Given the description of an element on the screen output the (x, y) to click on. 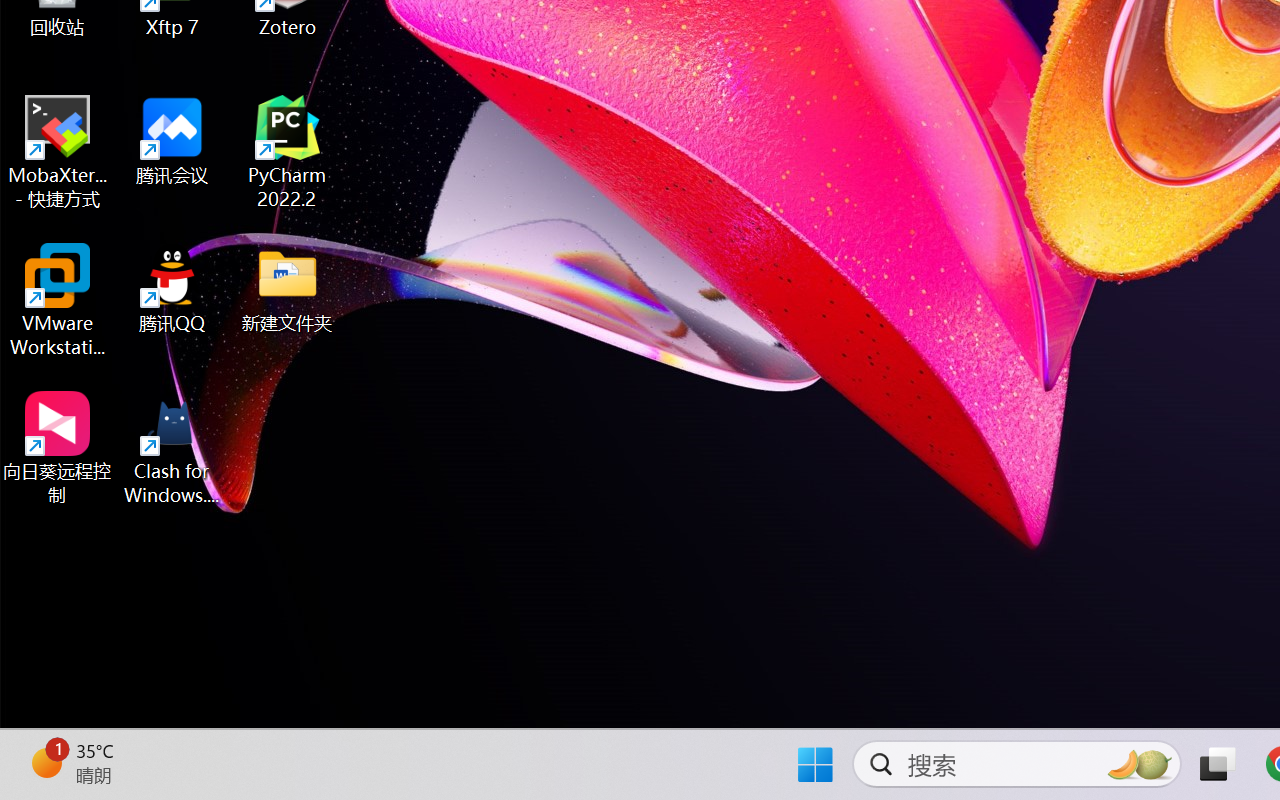
PyCharm 2022.2 (287, 152)
VMware Workstation Pro (57, 300)
